Given the description of an element on the screen output the (x, y) to click on. 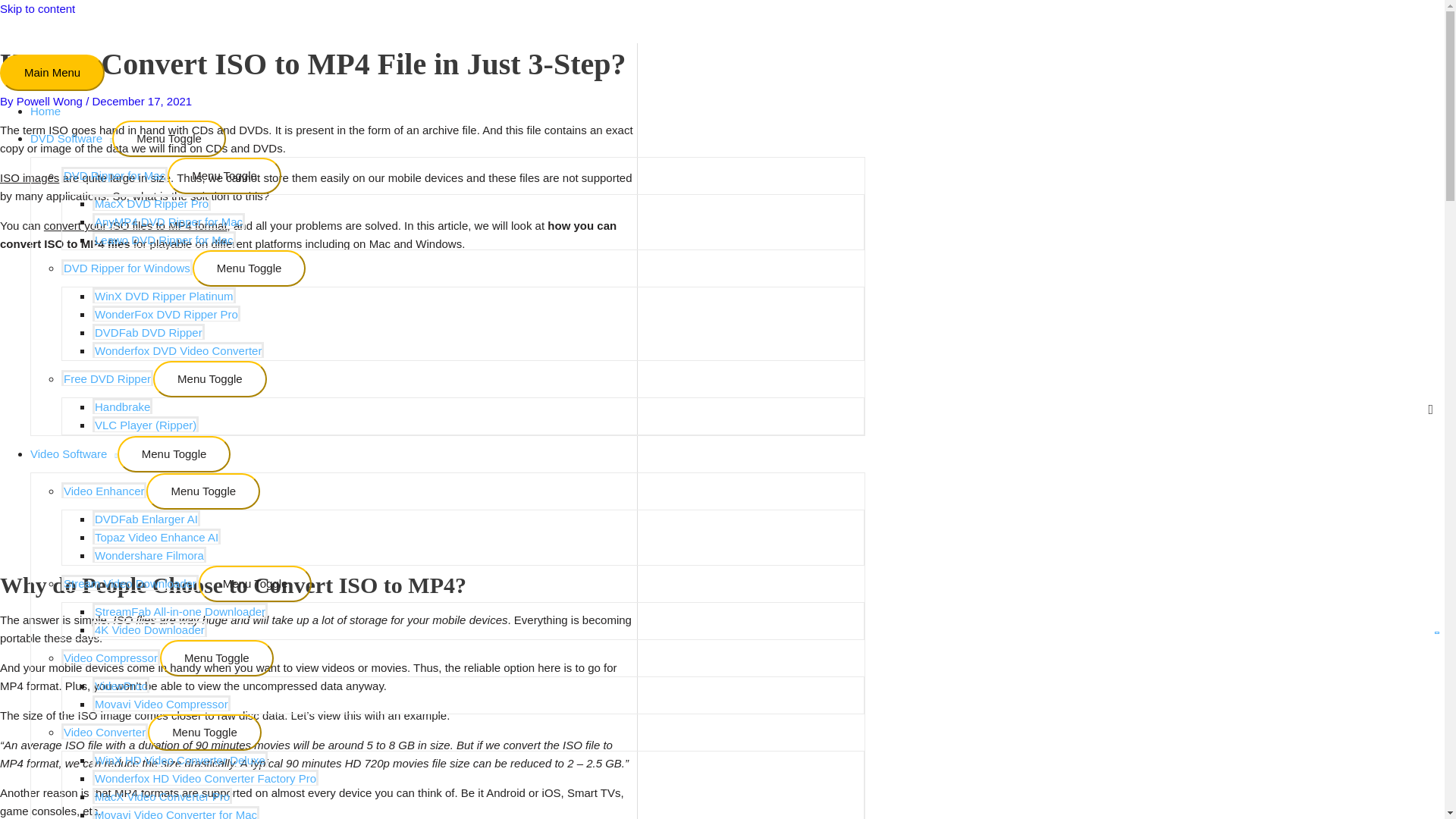
Video Enhancer (104, 489)
WinX HD Video Converter Deluxe (180, 759)
Video Converter (104, 731)
Menu Toggle (203, 491)
Wonderfox HD Video Converter Factory Pro (205, 777)
WinX DVD Ripper Platinum (164, 295)
Video Software (73, 453)
DVDFab Enlarger AI (146, 518)
Free DVD Ripper (106, 377)
VideoProc (121, 684)
